Given the description of an element on the screen output the (x, y) to click on. 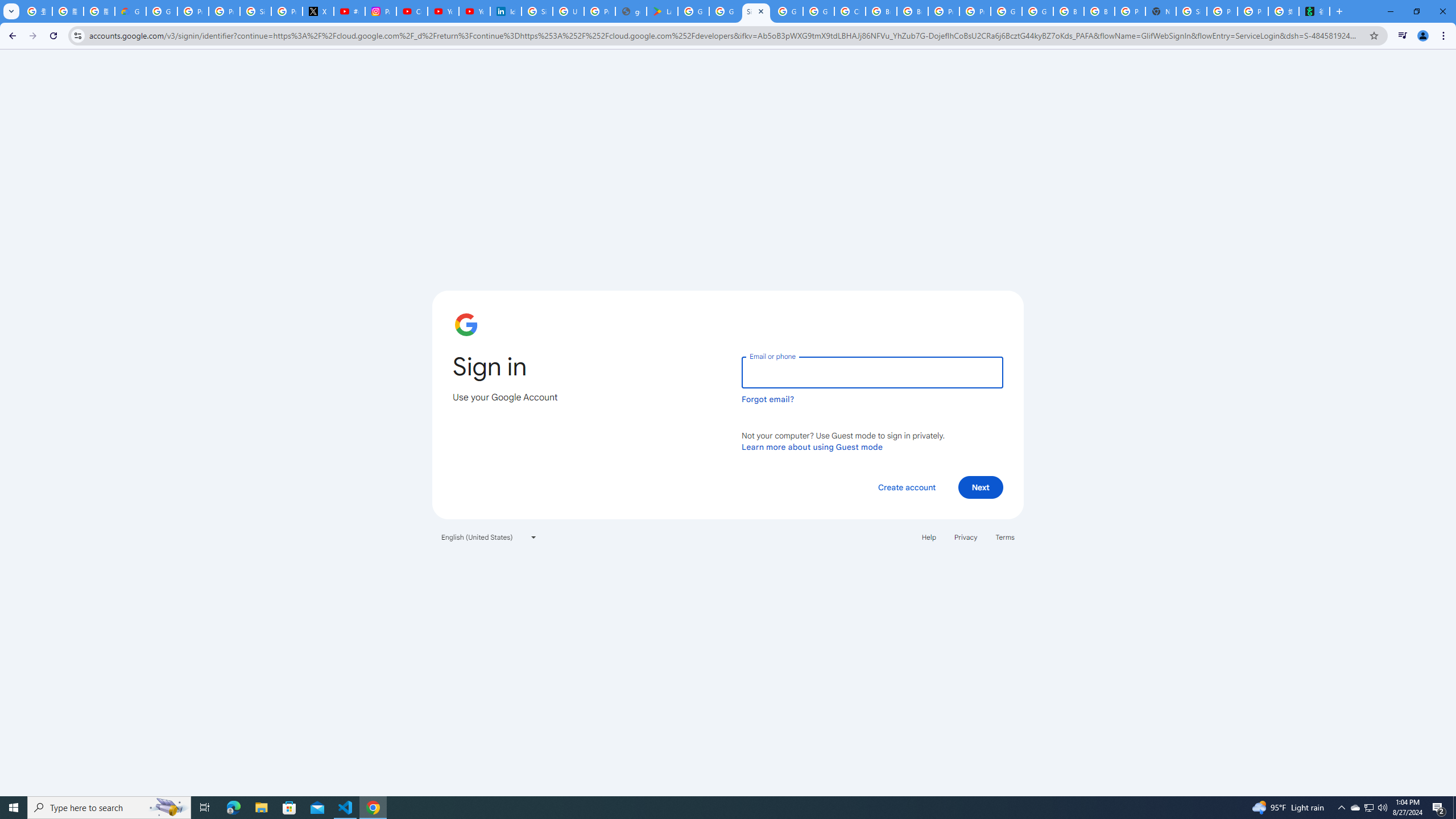
Create account (905, 486)
Sign in - Google Accounts (756, 11)
Sign in - Google Accounts (1190, 11)
Email or phone (871, 372)
